Given the description of an element on the screen output the (x, y) to click on. 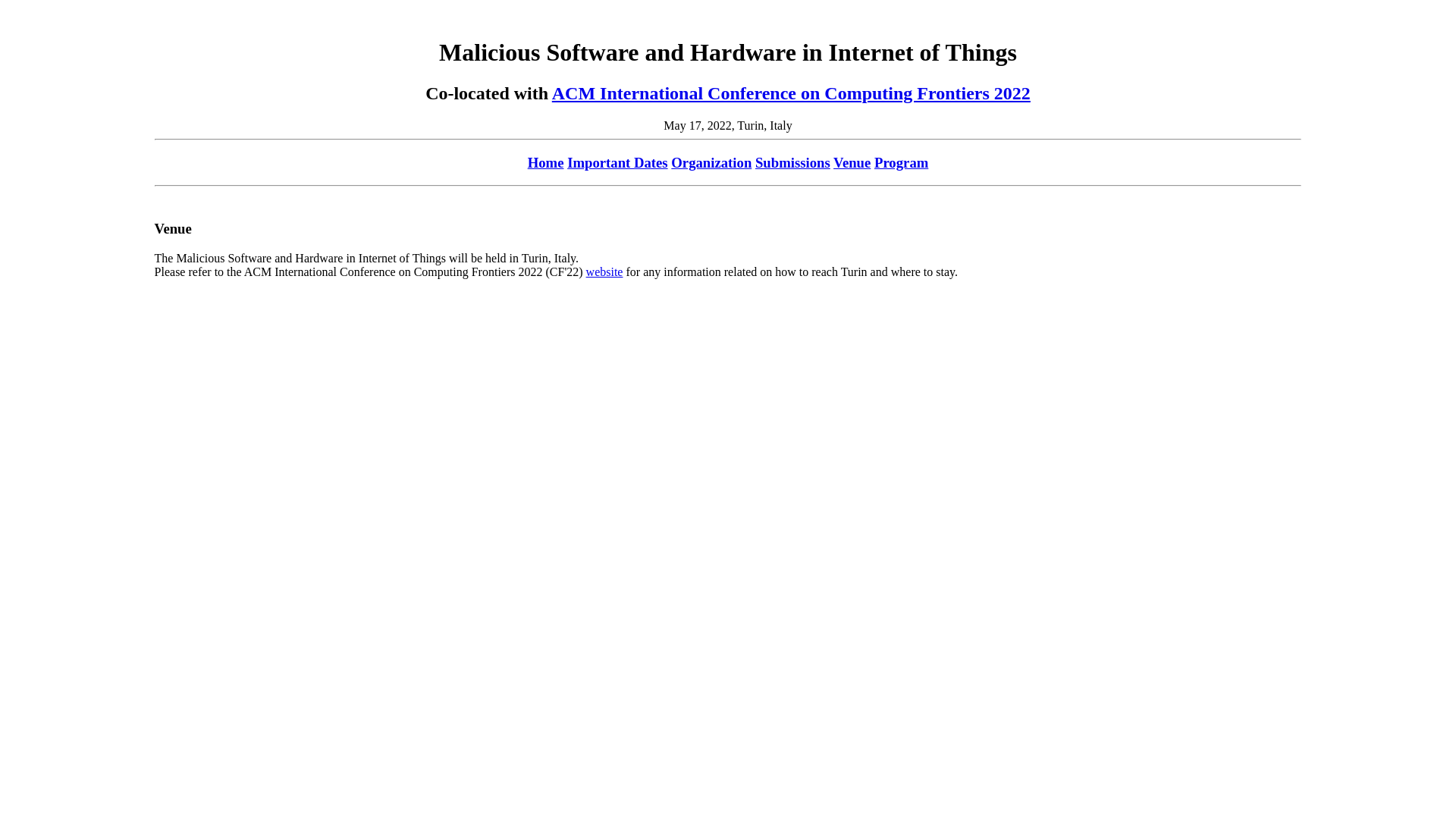
Venue Element type: text (851, 162)
Important Dates Element type: text (617, 162)
website Element type: text (604, 271)
Submissions Element type: text (792, 162)
Organization Element type: text (711, 162)
Program Element type: text (901, 162)
ACM International Conference on Computing Frontiers 2022 Element type: text (791, 93)
Home Element type: text (545, 162)
